Given the description of an element on the screen output the (x, y) to click on. 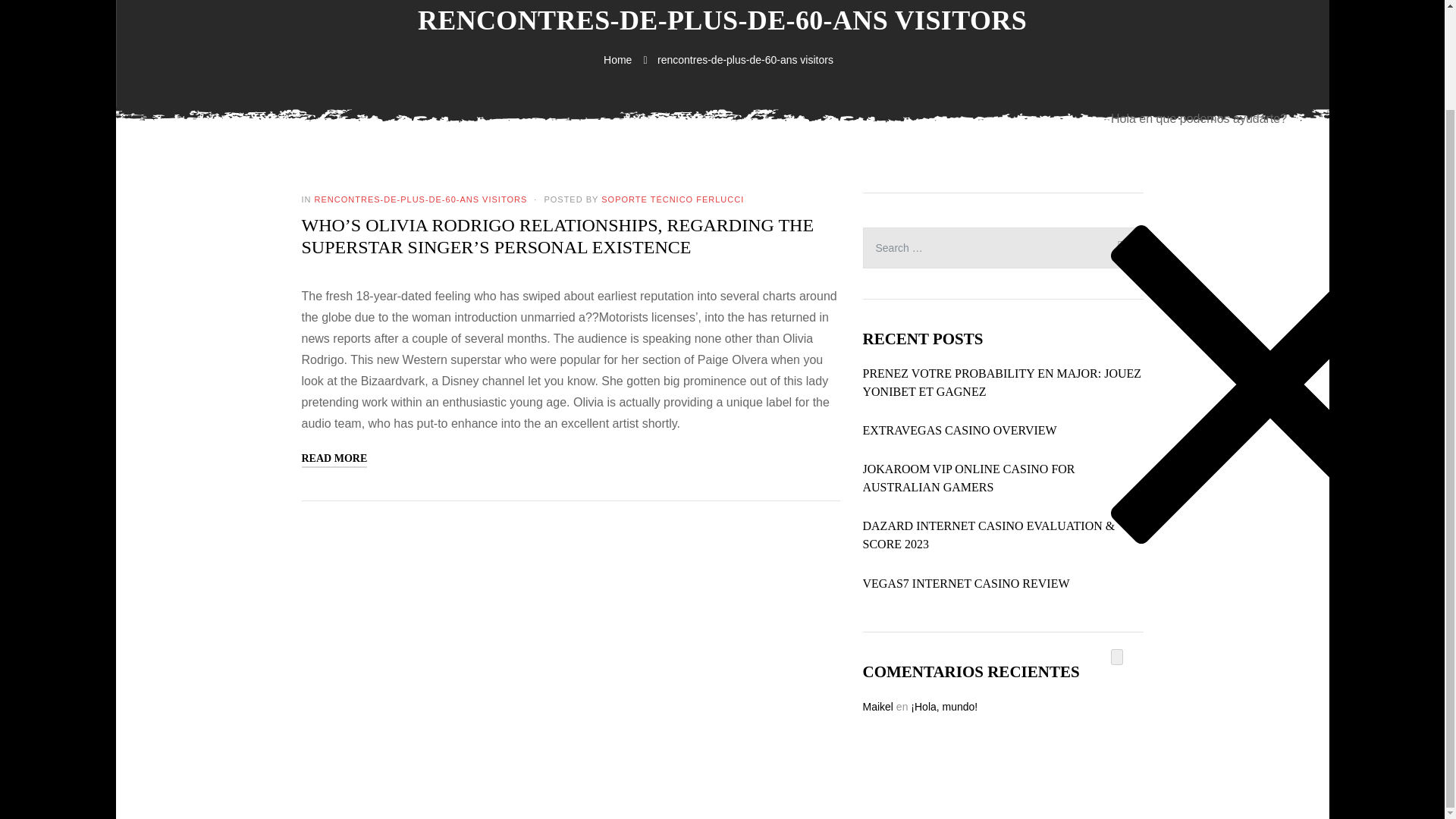
JOKAROOM VIP ONLINE CASINO FOR AUSTRALIAN GAMERS (1002, 478)
EXTRAVEGAS CASINO OVERVIEW (960, 430)
PRENEZ VOTRE PROBABILITY EN MAJOR: JOUEZ YONIBET ET GAGNEZ (1002, 382)
VEGAS7 INTERNET CASINO REVIEW (966, 583)
READ MORE (334, 458)
Home (619, 60)
RENCONTRES-DE-PLUS-DE-60-ANS VISITORS (420, 198)
Go to Ferlucci. (619, 60)
